Given the description of an element on the screen output the (x, y) to click on. 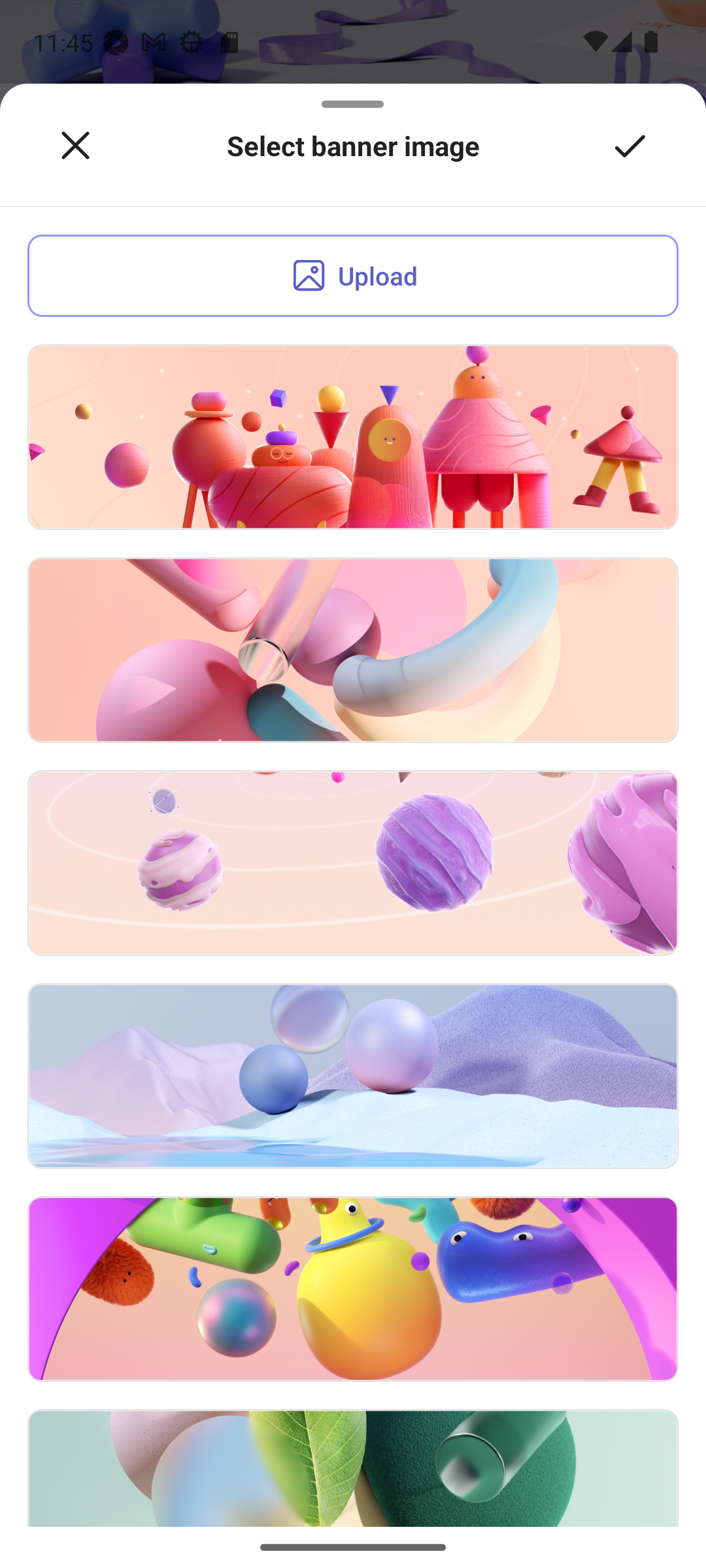
Cancel (75, 145)
Save (630, 145)
Upload (352, 275)
